Given the description of an element on the screen output the (x, y) to click on. 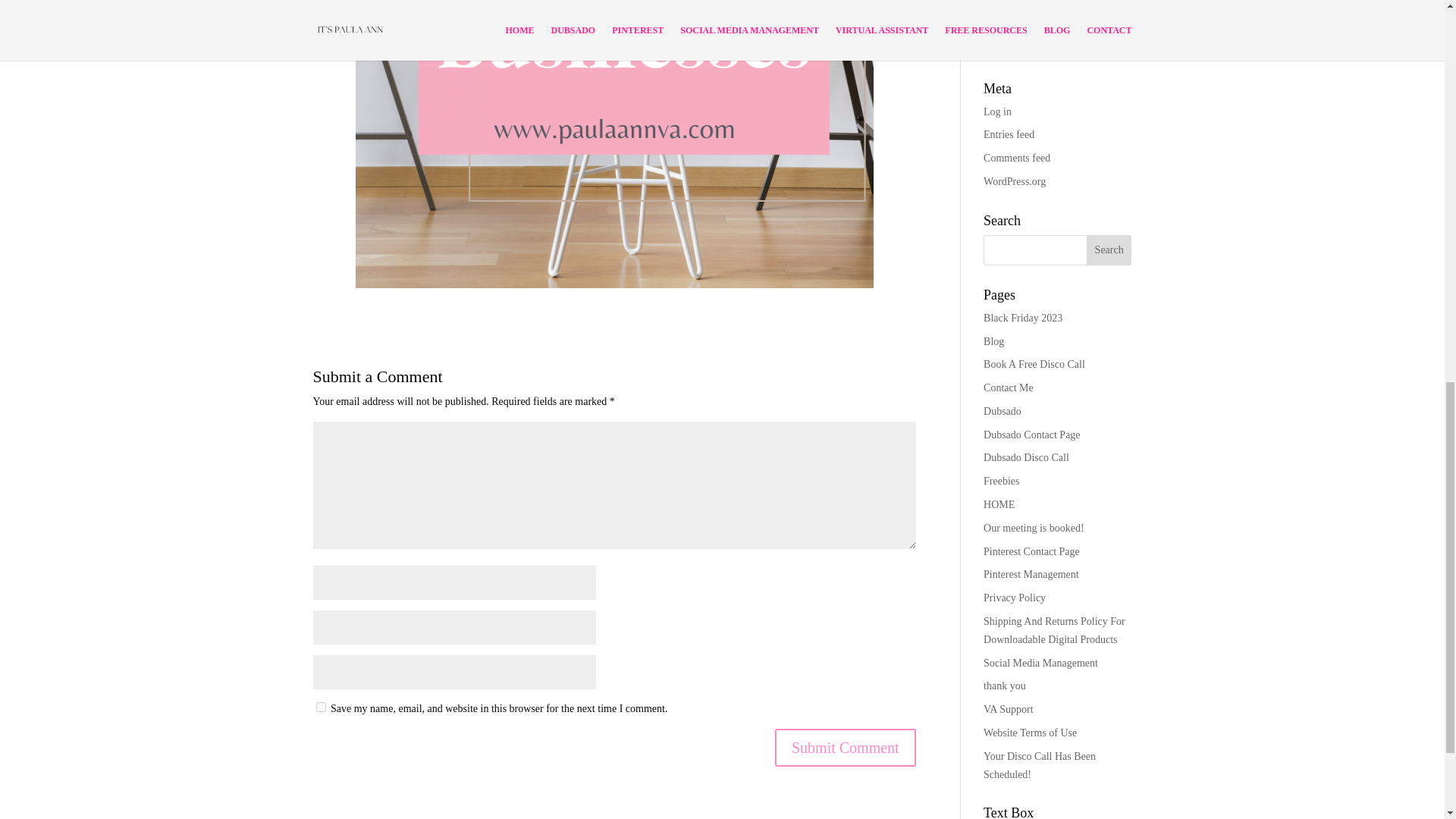
yes (319, 706)
Search (1109, 250)
Submit Comment (844, 747)
Submit Comment (844, 747)
